Given the description of an element on the screen output the (x, y) to click on. 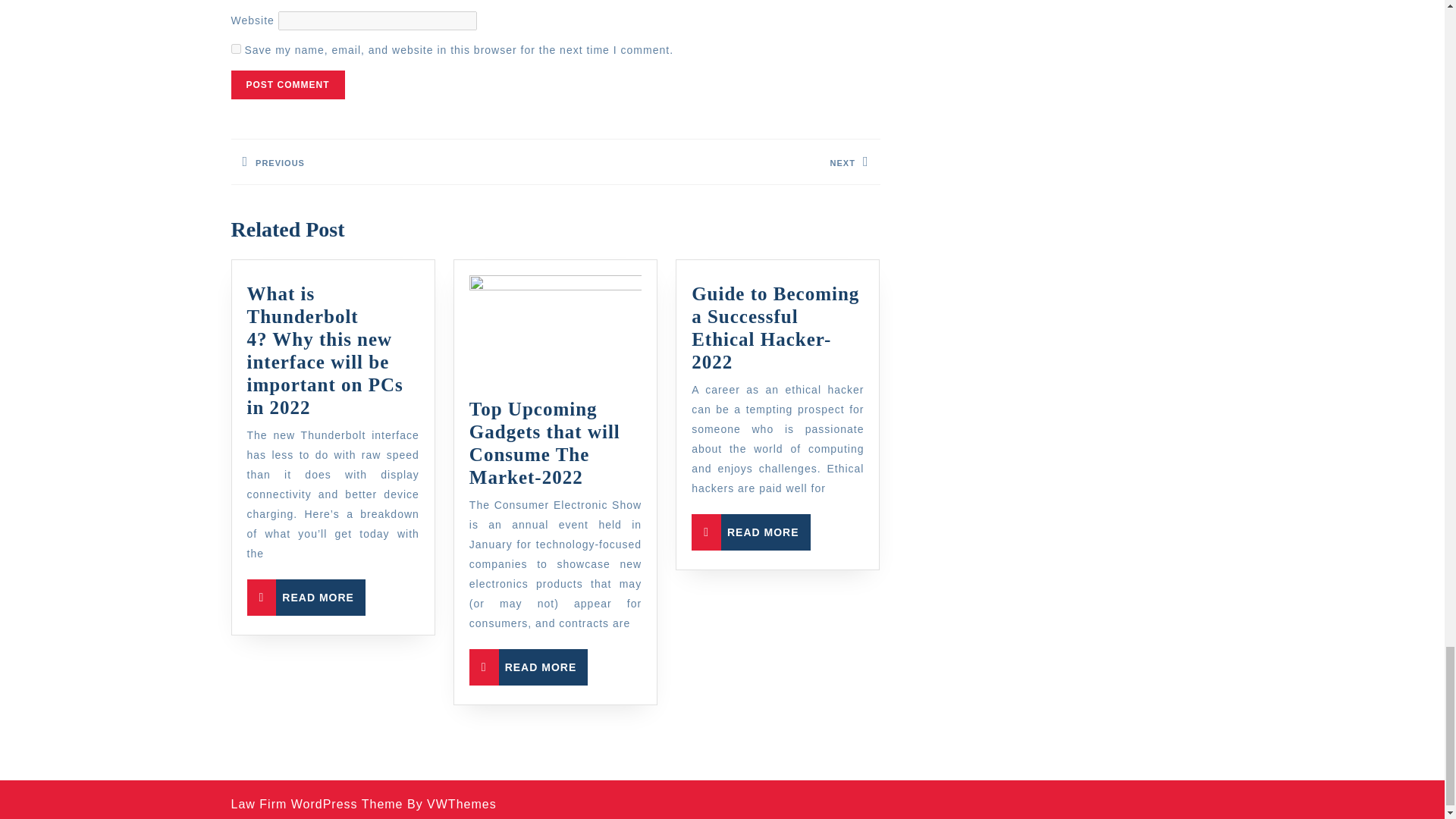
Post Comment (750, 532)
yes (286, 84)
